Given the description of an element on the screen output the (x, y) to click on. 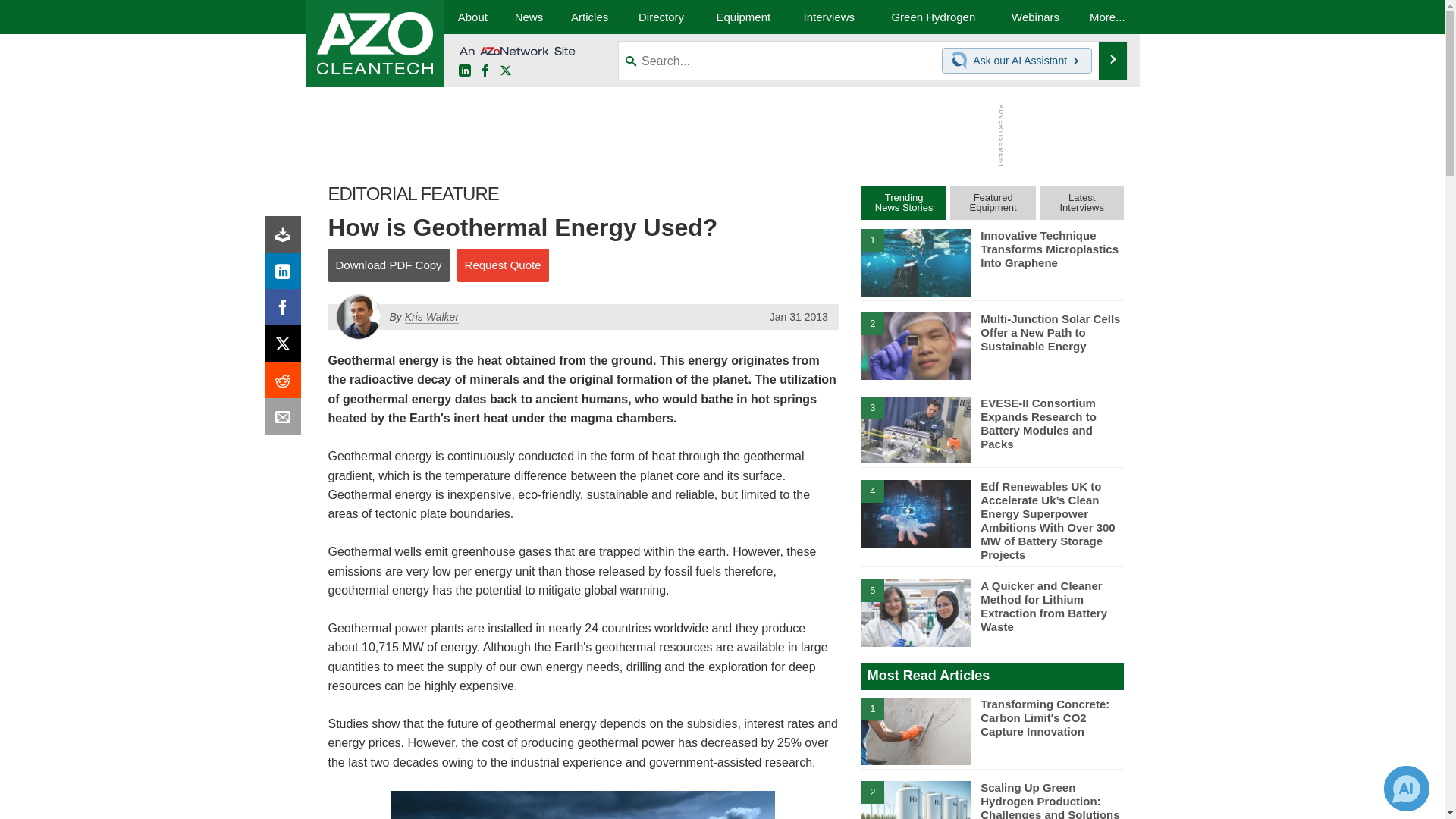
Facebook (485, 71)
Reddit (285, 384)
Webinars (1035, 17)
Chat with our AI Assistant (962, 60)
About (472, 17)
Facebook (285, 311)
News (528, 17)
More... (1106, 17)
Interviews (828, 17)
